Given the description of an element on the screen output the (x, y) to click on. 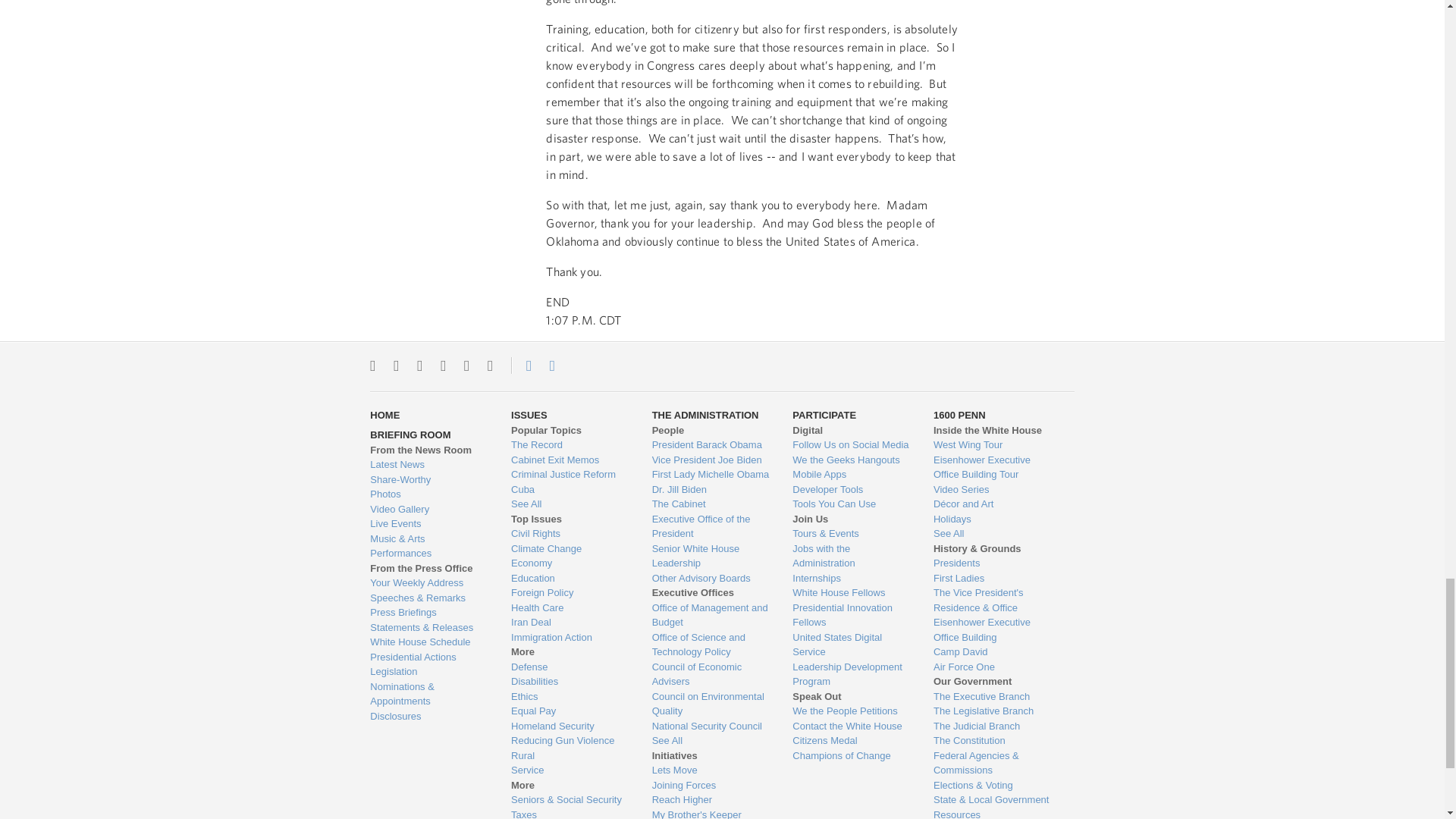
View the photo of the day and other galleries (428, 494)
Check out the most popular infographics and videos (428, 479)
Contact the Whitehouse. (521, 365)
Watch behind-the-scenes videos and more (428, 509)
Read the latest blog posts from 1600 Pennsylvania Ave (428, 464)
